Given the description of an element on the screen output the (x, y) to click on. 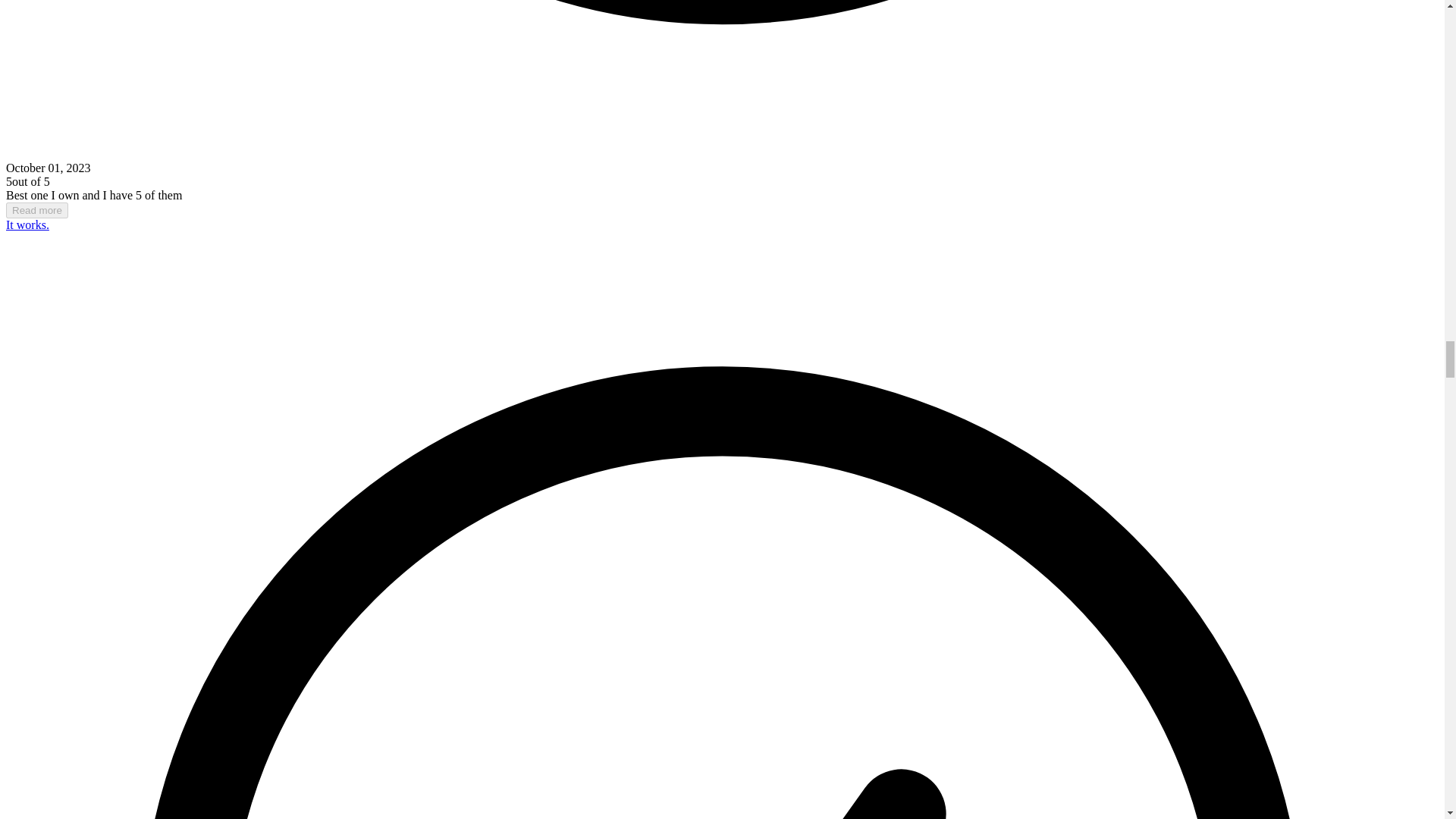
It works. (27, 224)
Read more (36, 210)
